Given the description of an element on the screen output the (x, y) to click on. 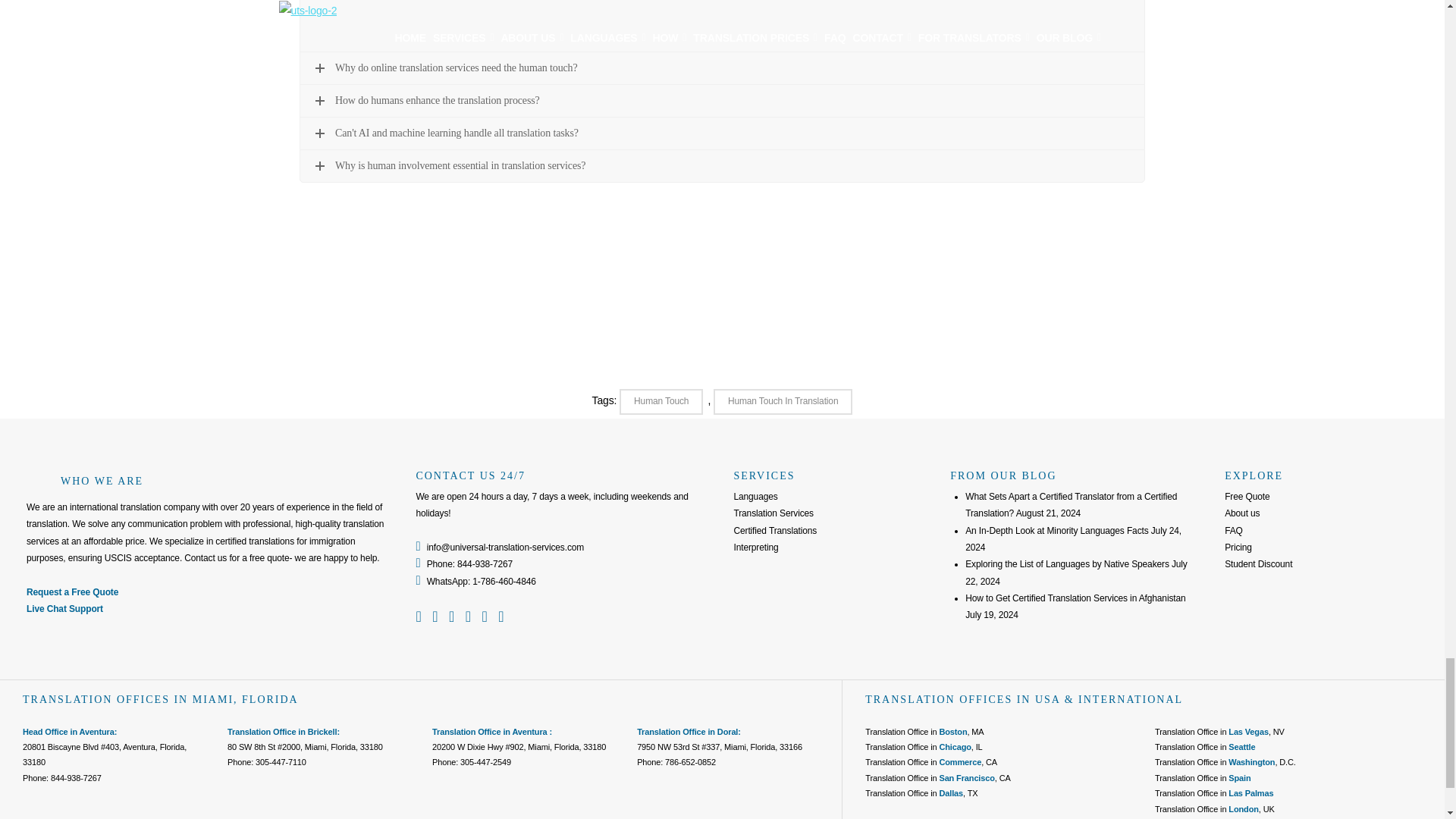
BBB accredited business (1270, 649)
ATA-member (1270, 609)
universal-logo-correct 1 (39, 480)
